Given the description of an element on the screen output the (x, y) to click on. 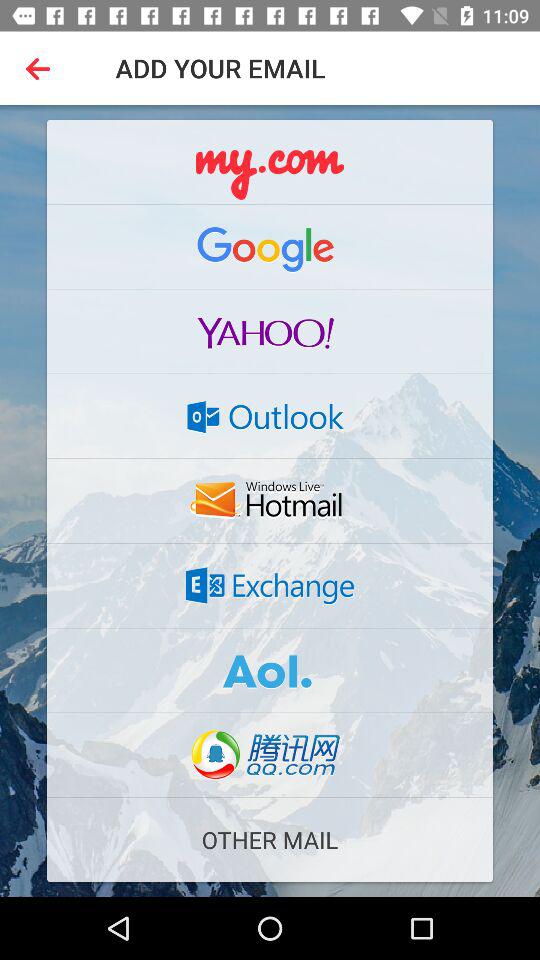
select aol (269, 670)
